Given the description of an element on the screen output the (x, y) to click on. 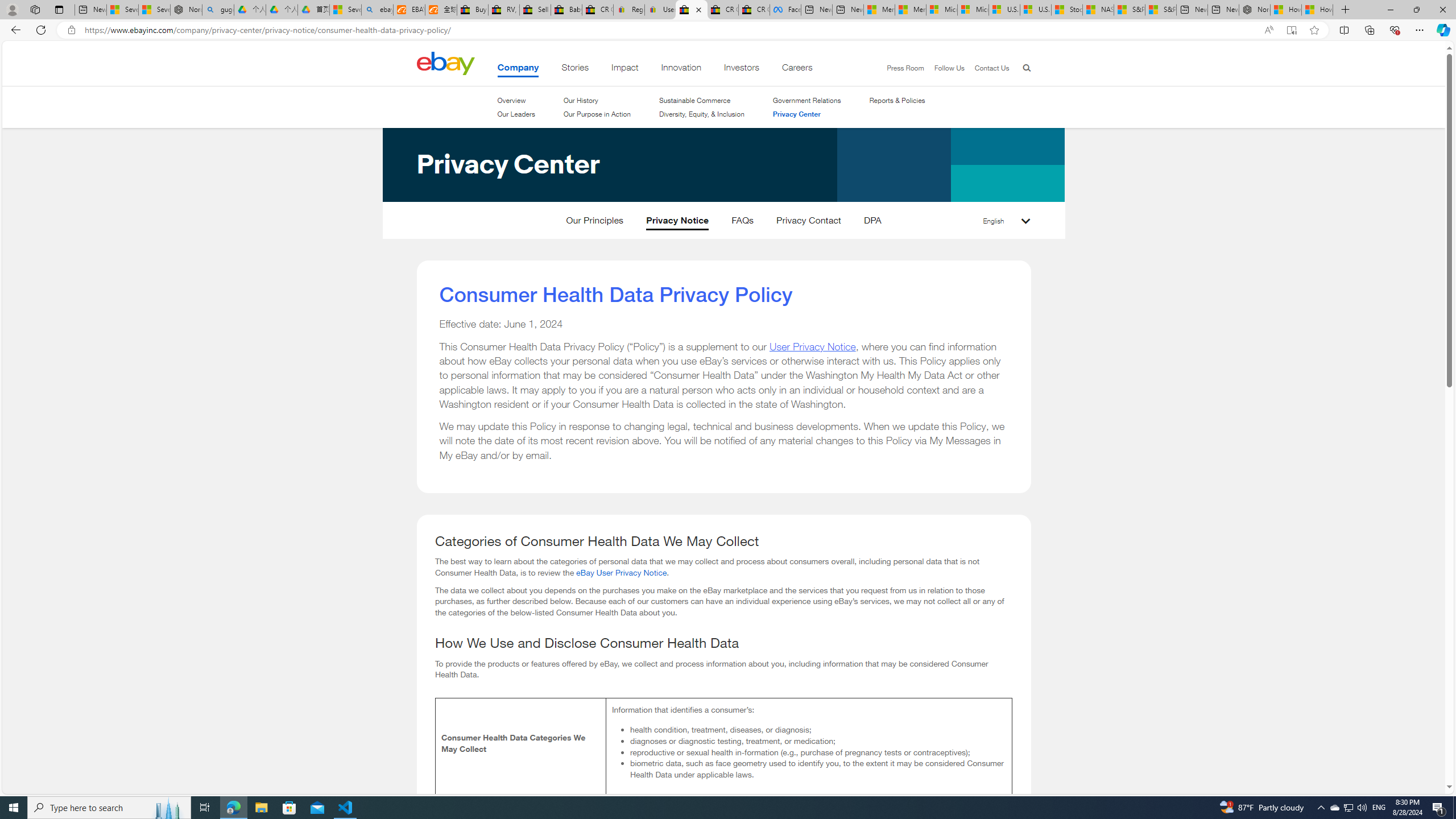
Investors (740, 69)
Press Room (905, 67)
Government Relations (806, 100)
diagnoses or diagnostic testing, treatment, or medication; (817, 740)
User Privacy Notice (812, 345)
Stories (575, 69)
